Given the description of an element on the screen output the (x, y) to click on. 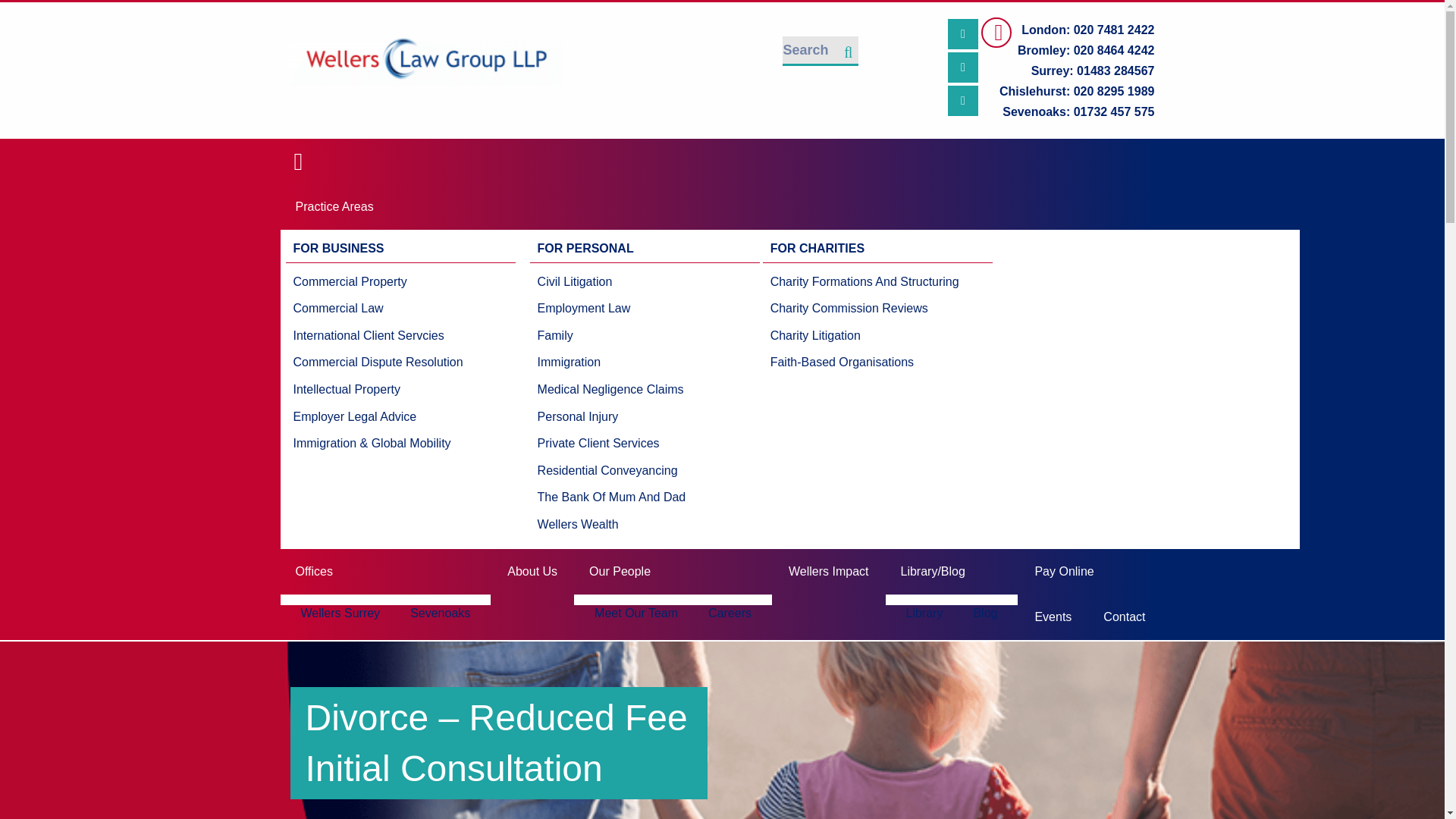
Immigration (611, 361)
FOR BUSINESS (400, 248)
Commercial Property (377, 281)
Family (611, 335)
Chislehurst: 020 8295 1989 (1067, 91)
Charity Formations And Structuring (864, 281)
Private Client Services (611, 443)
Sevenoaks (439, 613)
Charity Commission Reviews (864, 308)
Medical Negligence Claims (611, 389)
FOR CHARITIES (877, 248)
Employment Law (611, 308)
Offices (386, 571)
Residential Conveyancing (611, 470)
Faith-Based Organisations (864, 361)
